Given the description of an element on the screen output the (x, y) to click on. 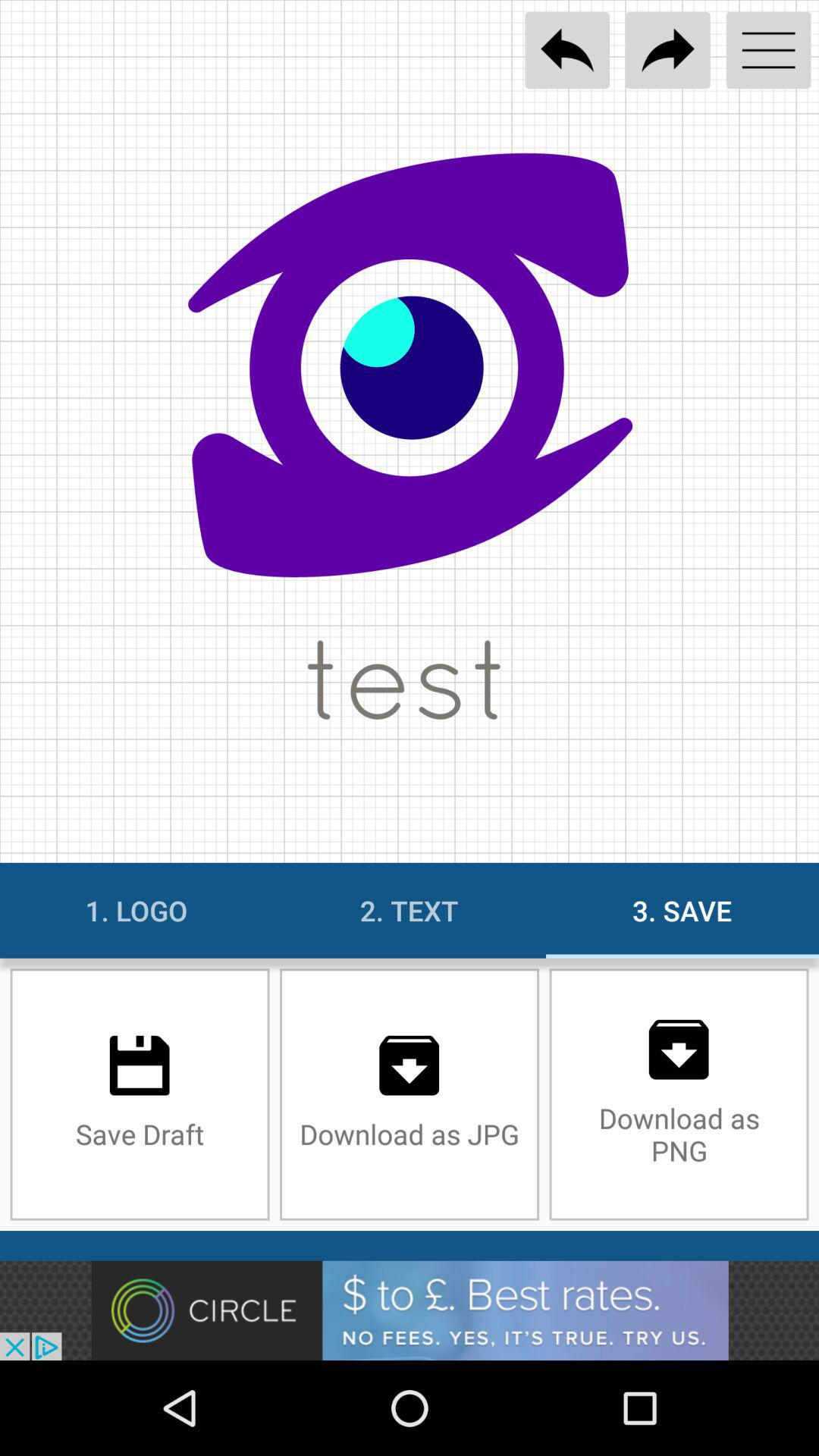
go next (667, 50)
